Given the description of an element on the screen output the (x, y) to click on. 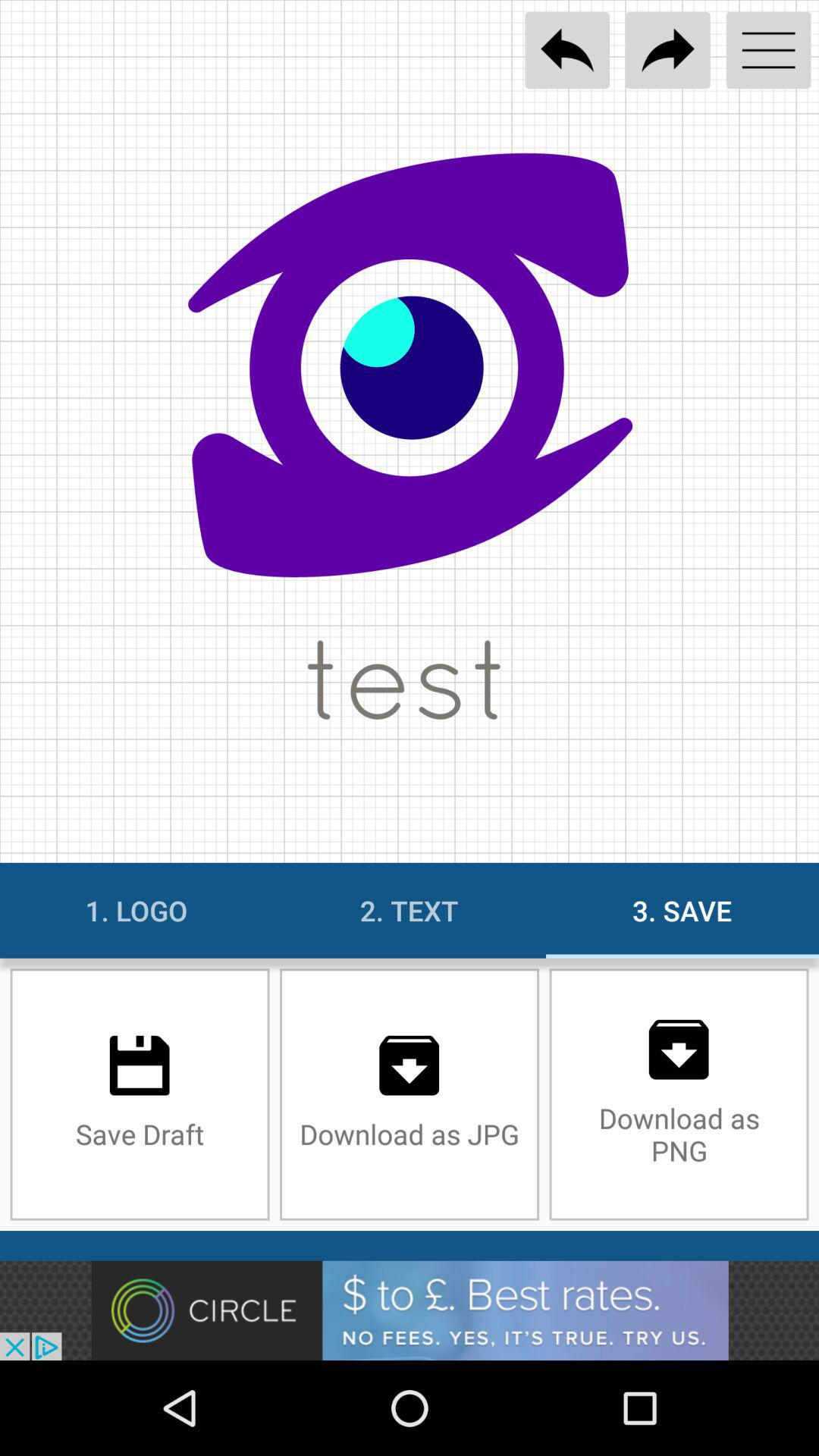
go next (667, 50)
